Given the description of an element on the screen output the (x, y) to click on. 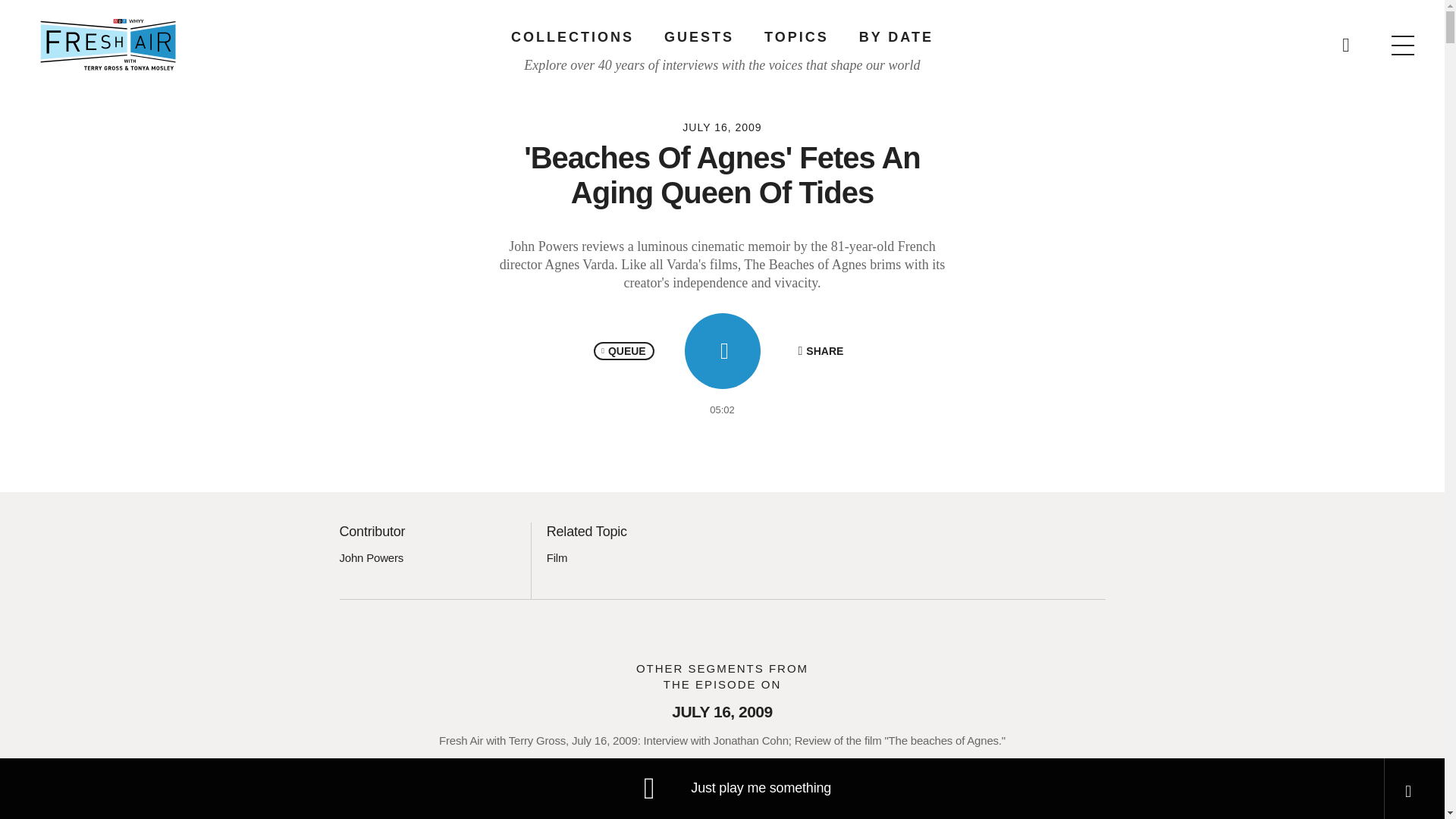
GUESTS (698, 36)
QUEUE (622, 351)
BY DATE (896, 36)
TOPICS (796, 36)
COLLECTIONS (572, 36)
John Powers (371, 557)
Home (108, 44)
SHARE (820, 351)
Film (557, 557)
